Given the description of an element on the screen output the (x, y) to click on. 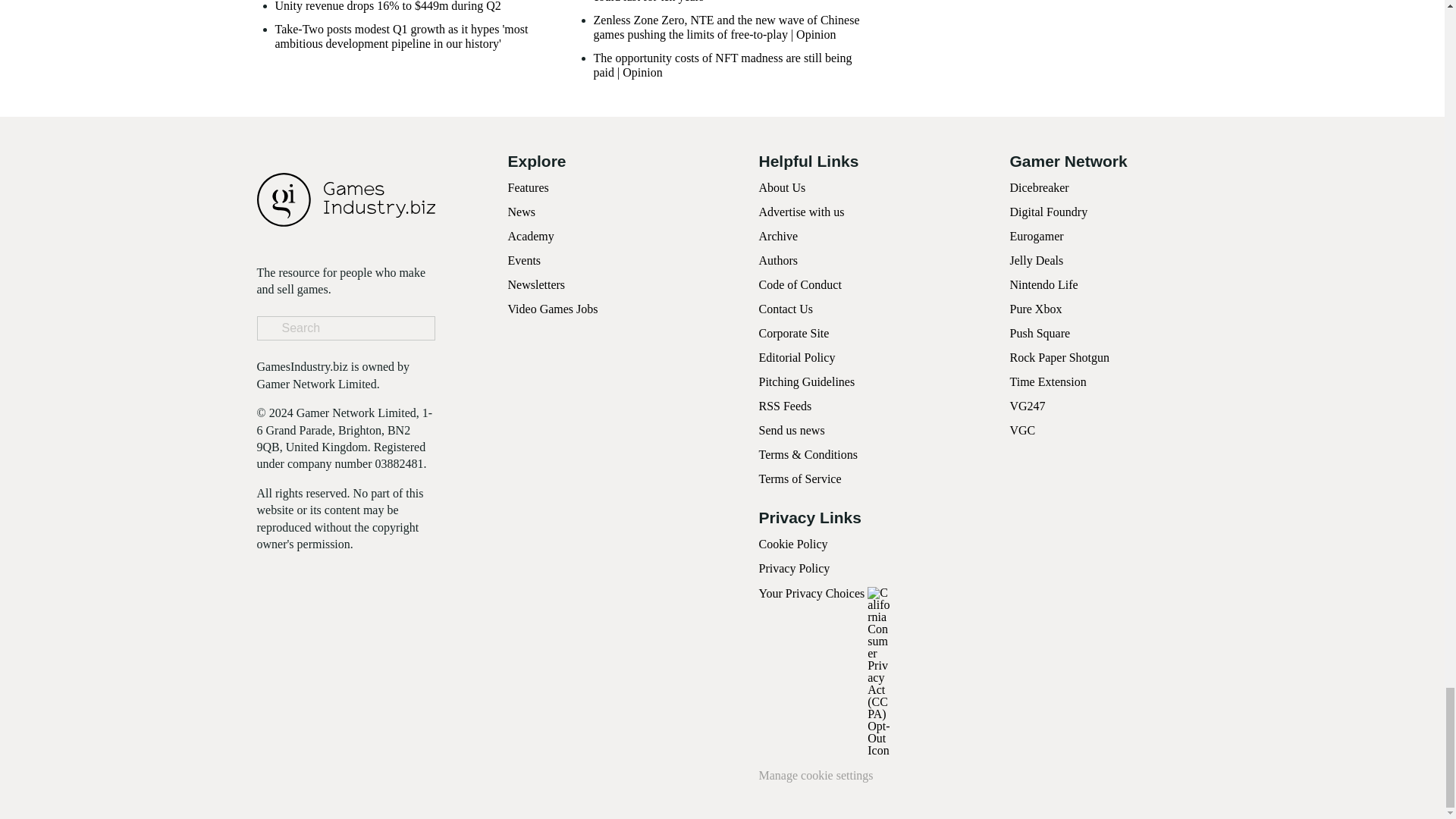
Advertise with us (801, 211)
News (521, 211)
Features (528, 187)
About Us (781, 187)
Events (524, 259)
Archive (777, 236)
Newsletters (537, 284)
Video Games Jobs (553, 308)
Academy (531, 236)
